Given the description of an element on the screen output the (x, y) to click on. 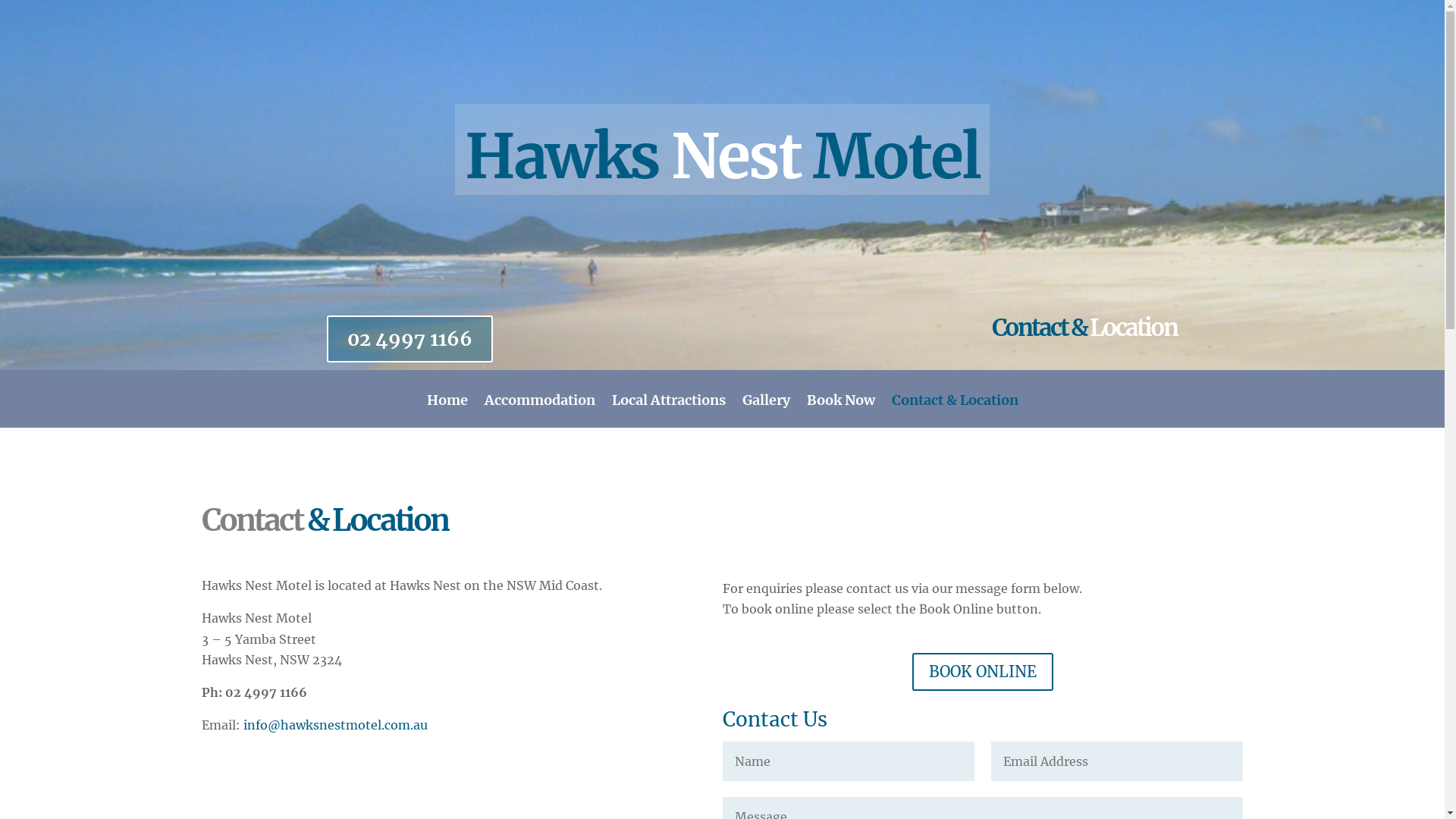
Gallery Element type: text (765, 411)
BOOK ONLINE Element type: text (982, 671)
info@hawksnestmotel.com.au Element type: text (335, 724)
Book Now Element type: text (840, 411)
Local Attractions Element type: text (667, 411)
Home Element type: text (446, 411)
02 4997 1166 Element type: text (409, 338)
Accommodation Element type: text (538, 411)
Contact & Location Element type: text (954, 411)
